Given the description of an element on the screen output the (x, y) to click on. 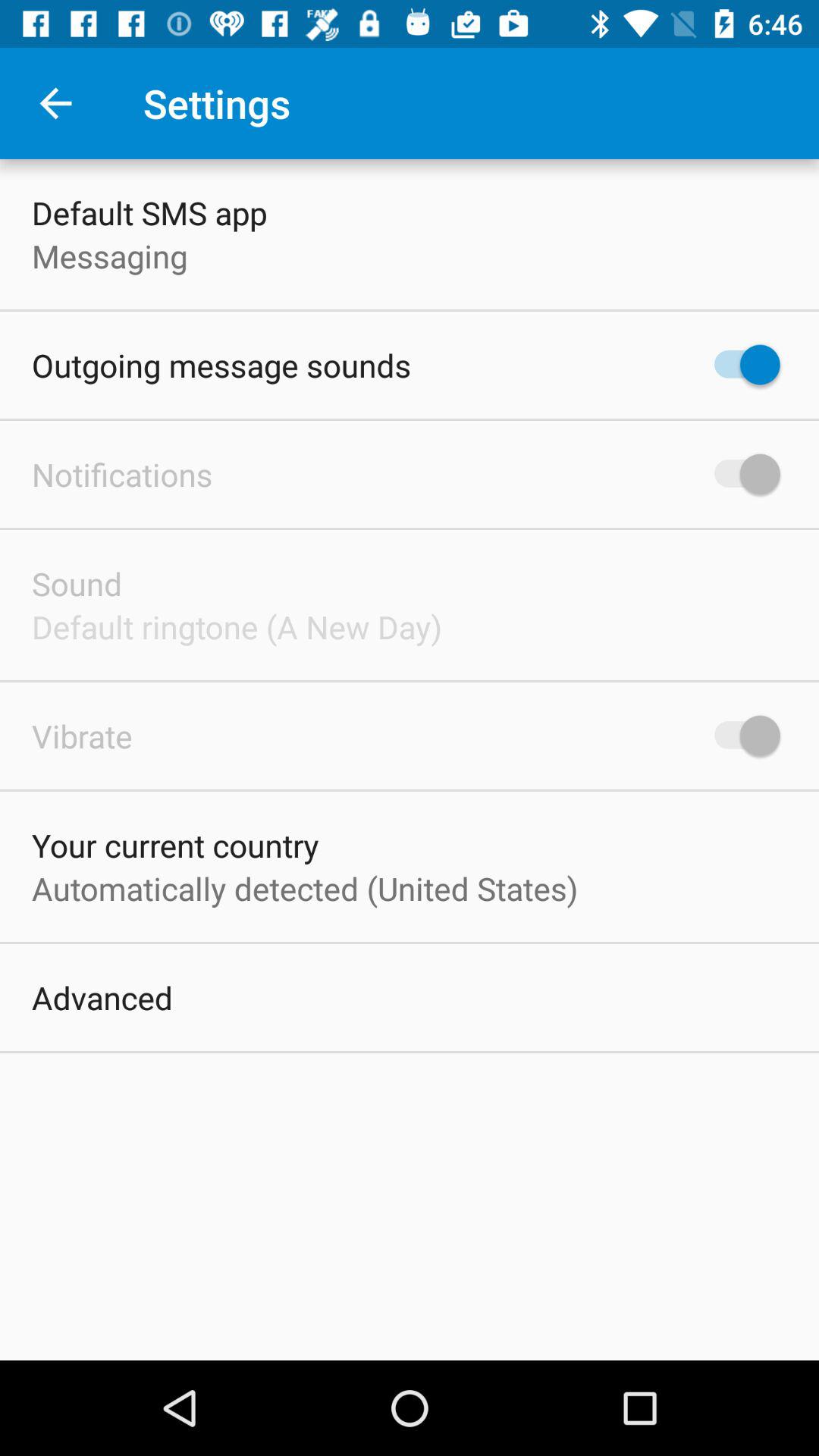
scroll until the outgoing message sounds item (221, 364)
